Given the description of an element on the screen output the (x, y) to click on. 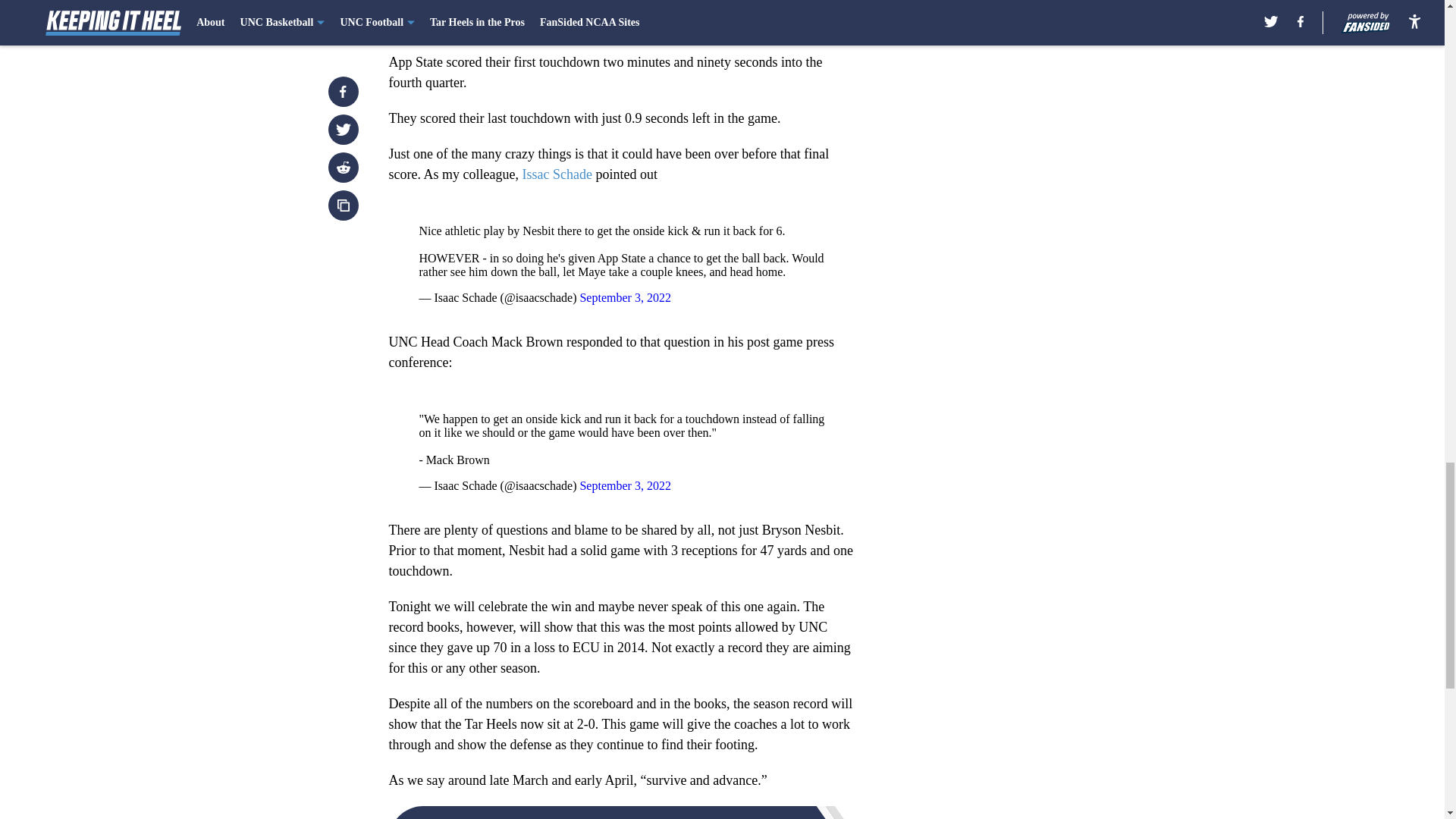
Issac Schade (556, 174)
NEXT: UNC Football: Staff Picks Week 2 vs Appalachian State (623, 812)
September 3, 2022 (624, 297)
September 3, 2022 (624, 485)
